Given the description of an element on the screen output the (x, y) to click on. 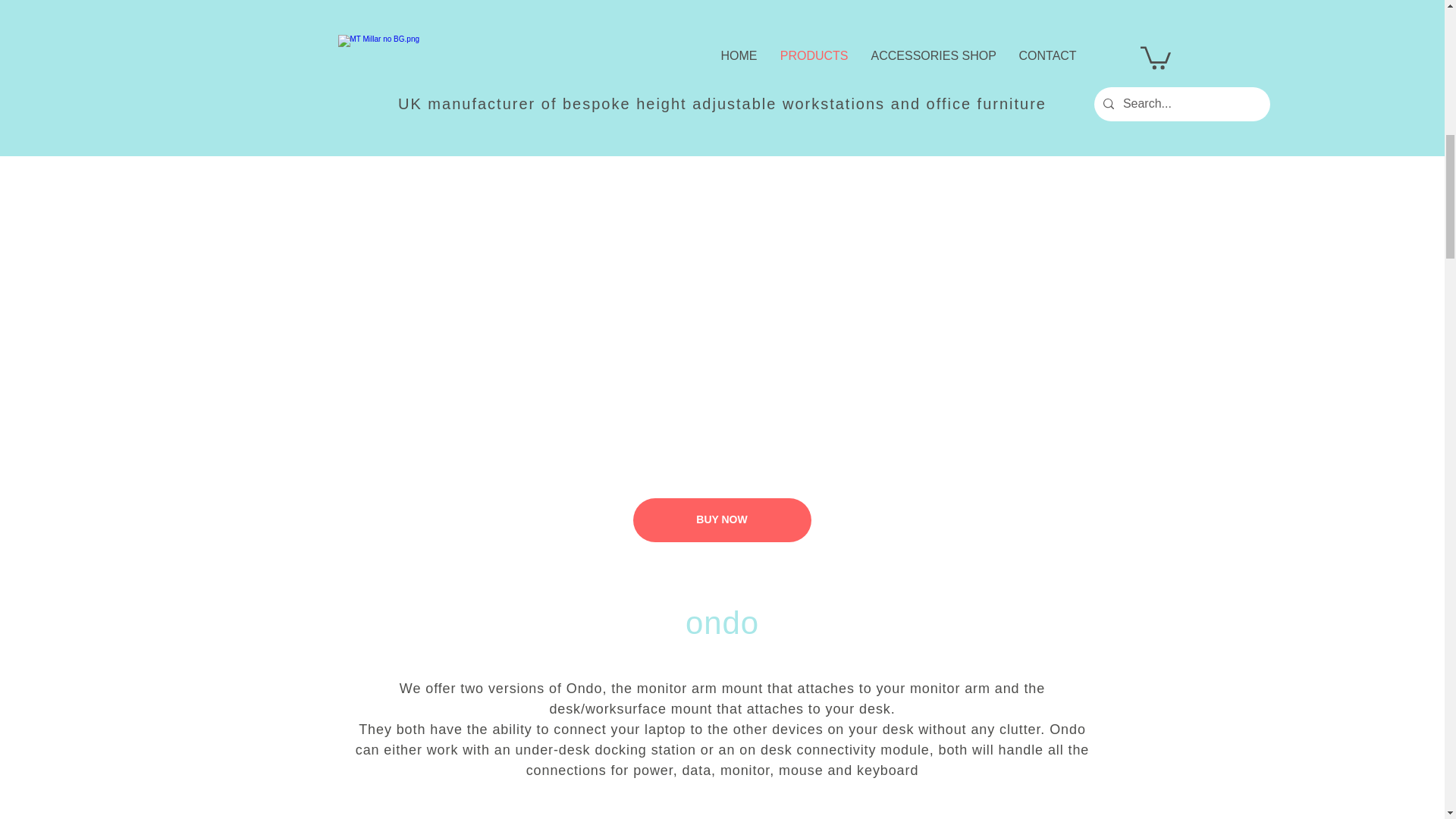
BUY NOW (720, 519)
